Given the description of an element on the screen output the (x, y) to click on. 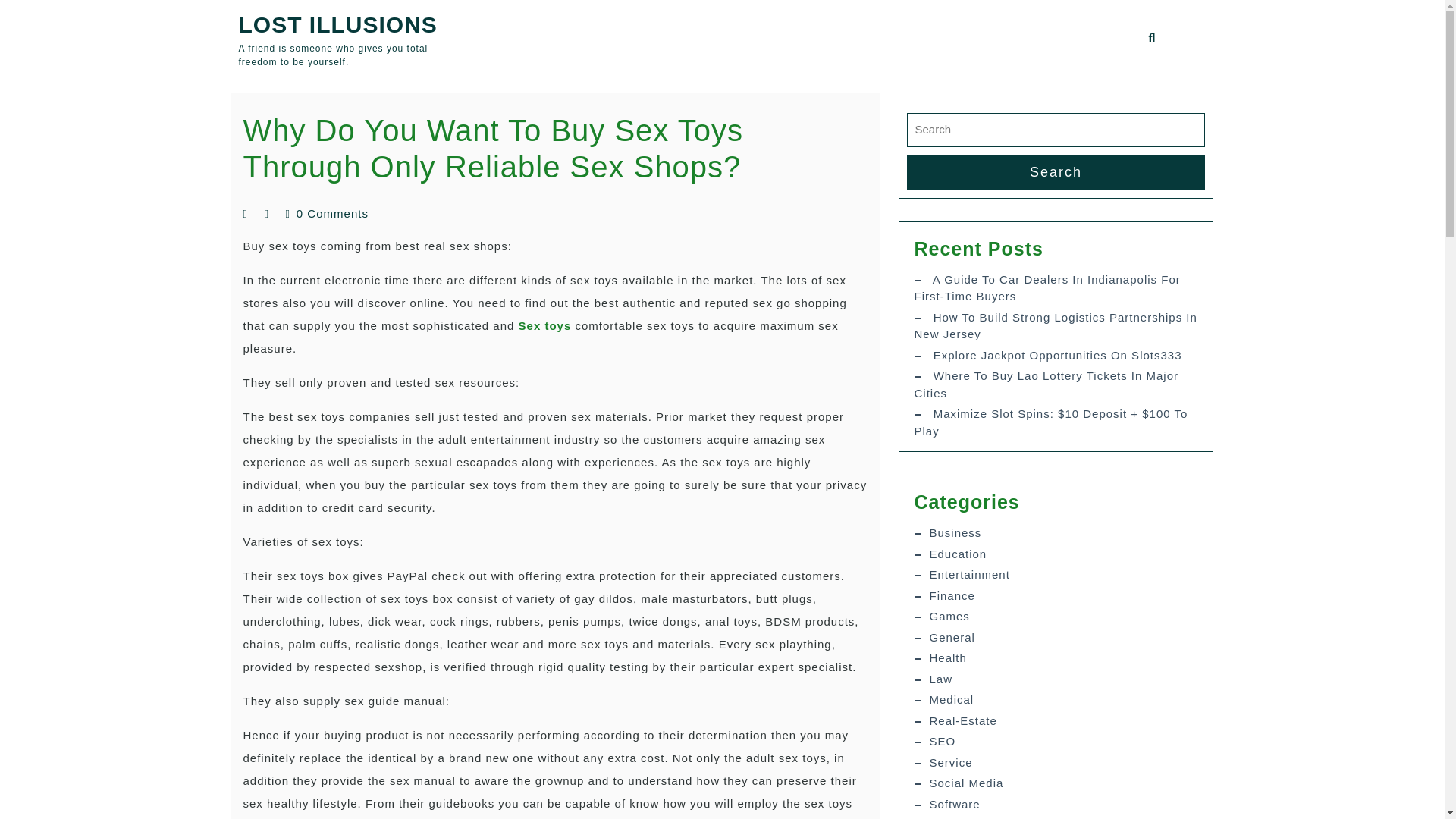
Business (955, 532)
Health (948, 657)
Search (1056, 172)
Games (949, 616)
LOST ILLUSIONS (337, 24)
Search (1056, 172)
Search (1158, 77)
Finance (952, 595)
A Guide To Car Dealers In Indianapolis For First-Time Buyers (1047, 287)
Education (958, 552)
